Given the description of an element on the screen output the (x, y) to click on. 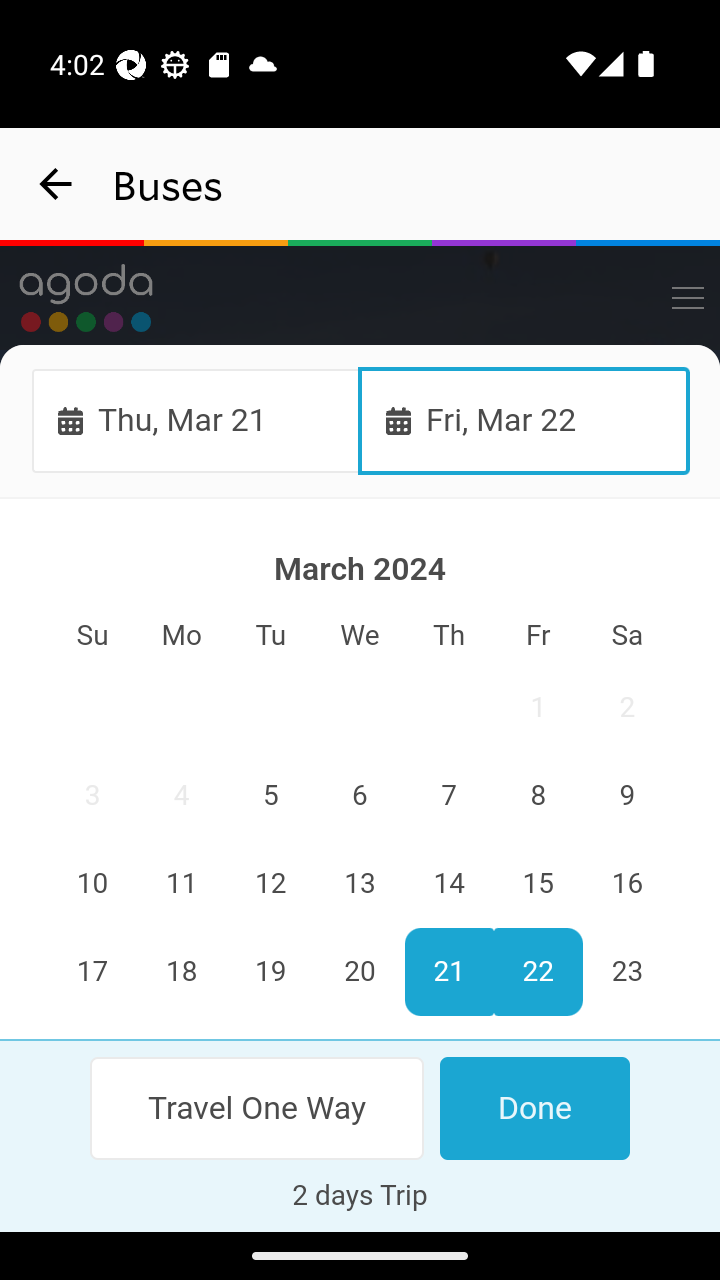
navigation_button (56, 184)
Thu, Mar 21 (195, 420)
Fri, Mar 22 (524, 420)
1 (537, 708)
2 (626, 708)
3 (93, 797)
4 (182, 797)
5 (271, 797)
6 (359, 797)
7 (448, 797)
8 (537, 797)
9 (626, 797)
10 (93, 884)
11 (182, 884)
12 (271, 884)
13 (359, 884)
14 (448, 884)
15 (537, 884)
16 (626, 884)
17 (93, 972)
18 (182, 972)
19 (271, 972)
20 (359, 972)
21 (448, 972)
22 (537, 972)
23 (626, 972)
Travel One Way (258, 1107)
Done (534, 1107)
